Given the description of an element on the screen output the (x, y) to click on. 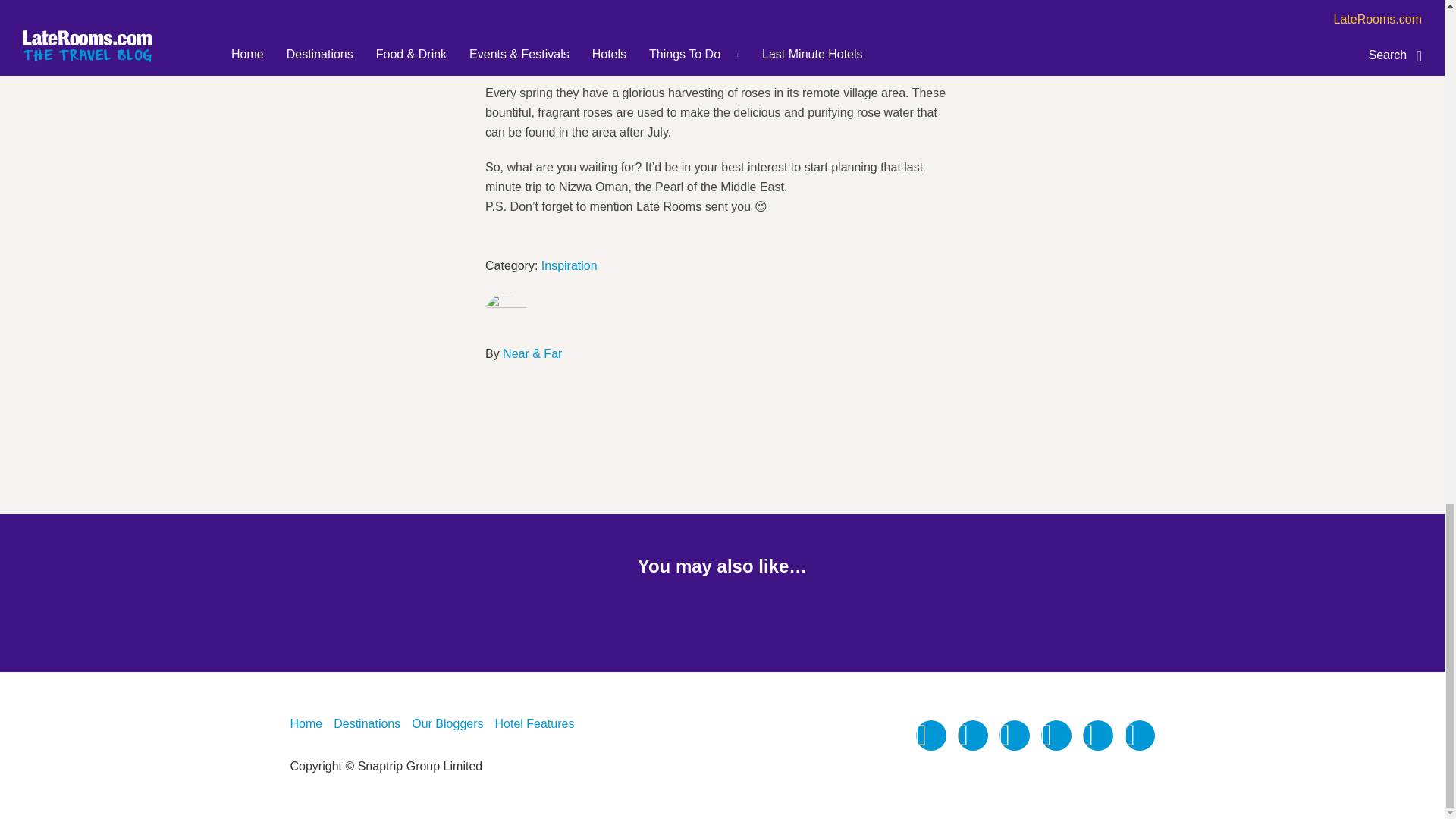
Inspiration (568, 265)
Hotel Features (534, 723)
Home (305, 723)
Destinations (366, 723)
Our Bloggers (447, 723)
